Given the description of an element on the screen output the (x, y) to click on. 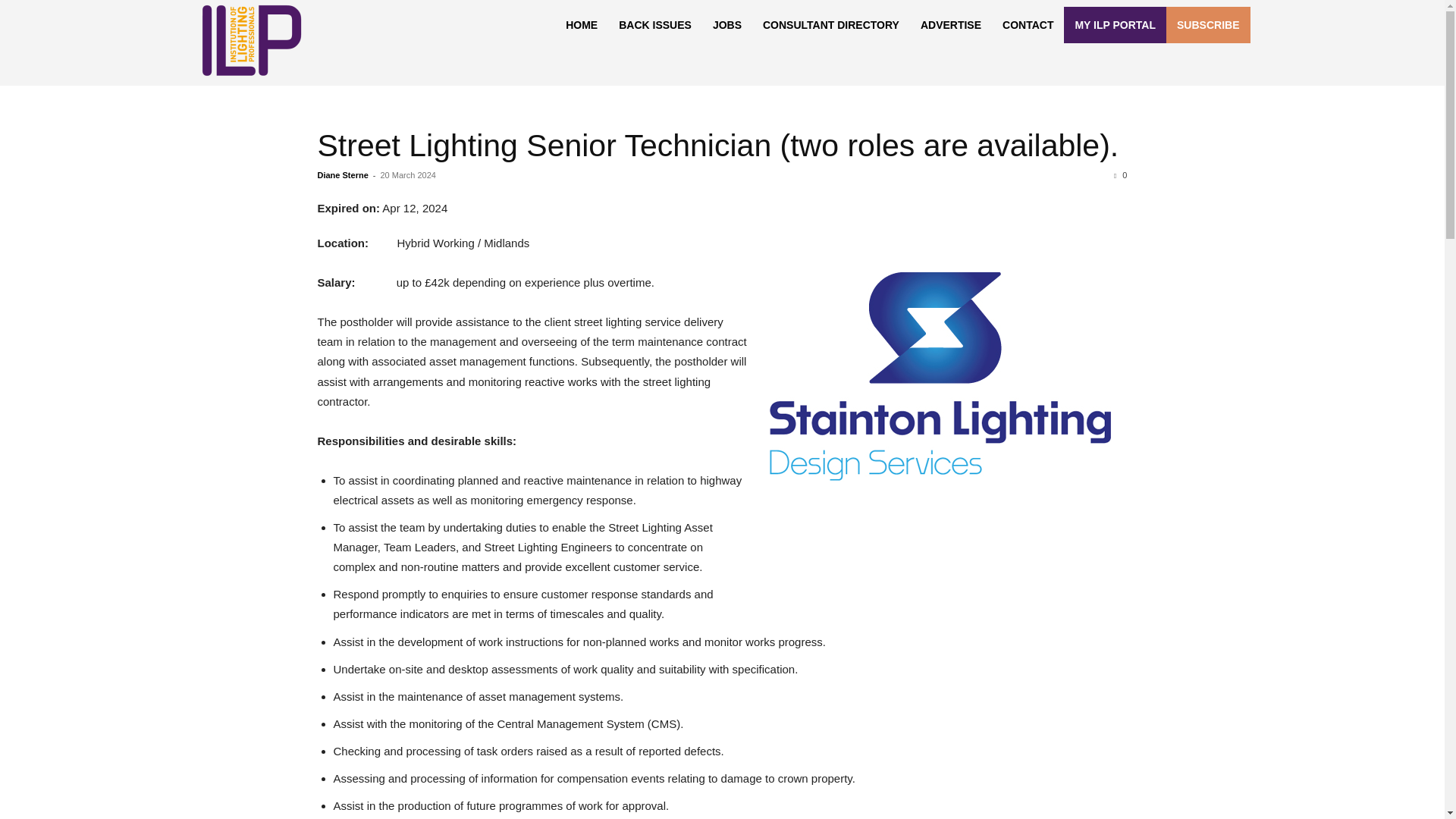
SUBSCRIBE (1207, 23)
ADVERTISE (950, 23)
MY ILP PORTAL (1115, 23)
CONTACT (1027, 23)
JOBS (726, 23)
ILP-logo-header (250, 40)
0 (1119, 174)
BACK ISSUES (654, 23)
HOME (581, 23)
CONSULTANT DIRECTORY (831, 23)
